Given the description of an element on the screen output the (x, y) to click on. 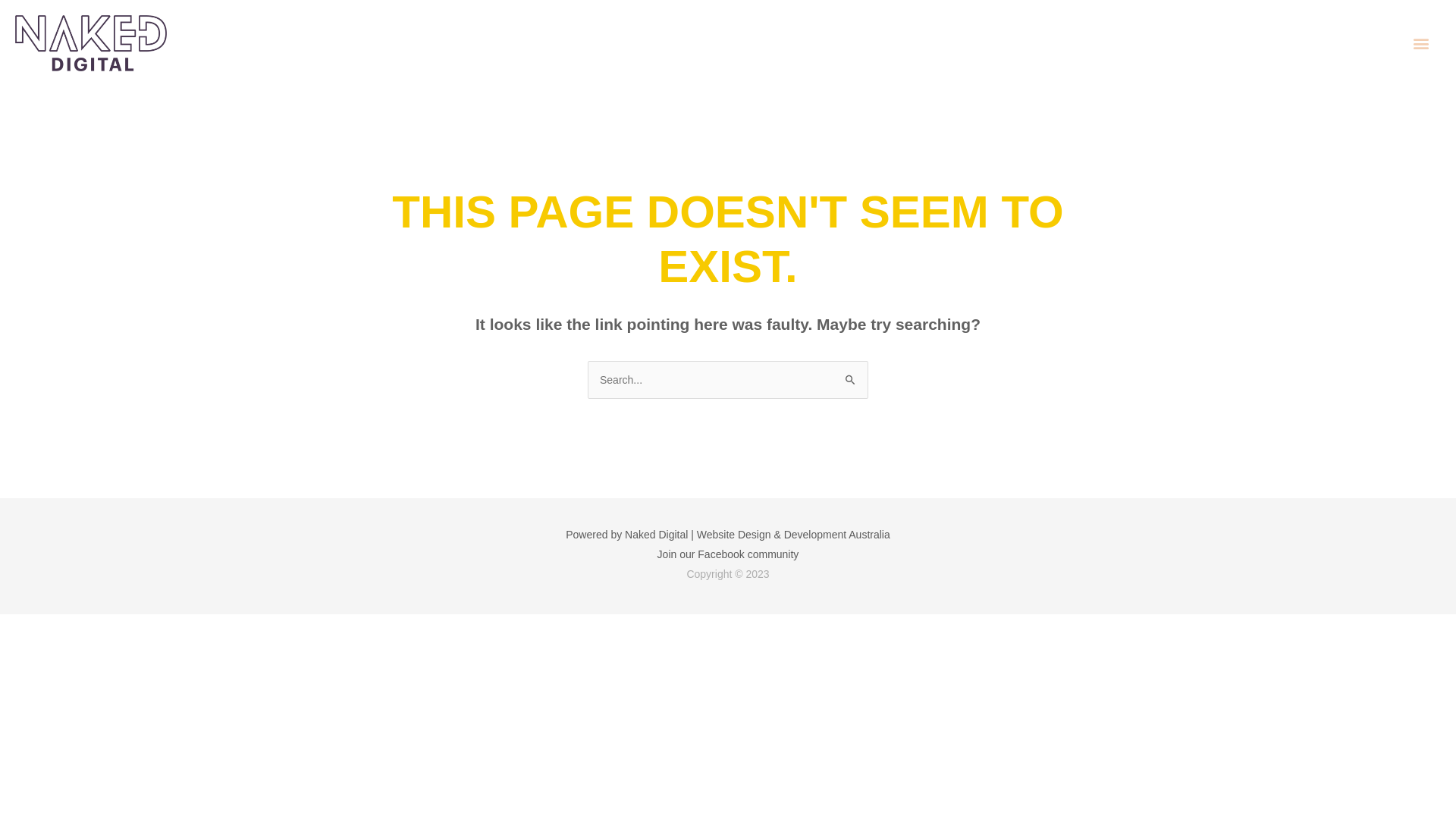
Facebook community Element type: text (747, 554)
Naked Digital Element type: text (655, 534)
Search Element type: text (851, 376)
